Given the description of an element on the screen output the (x, y) to click on. 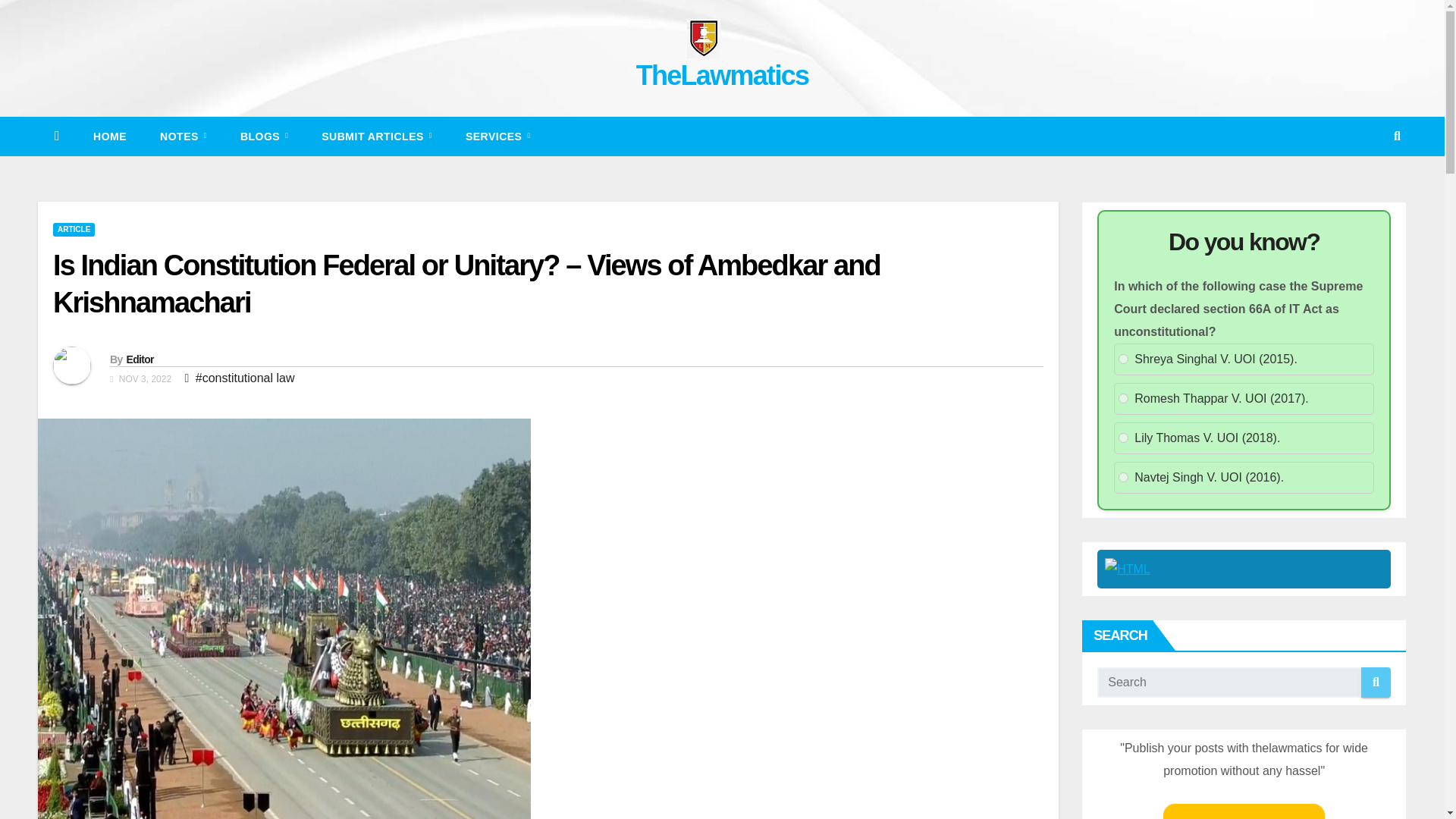
BLOGS (264, 136)
3 (1123, 438)
1 (1123, 358)
BLOGS (264, 136)
TheLawmatics (722, 74)
Services (497, 136)
SUBMIT ARTICLES (376, 136)
2 (1123, 398)
Submit Articles (376, 136)
NOTES (183, 136)
